Given the description of an element on the screen output the (x, y) to click on. 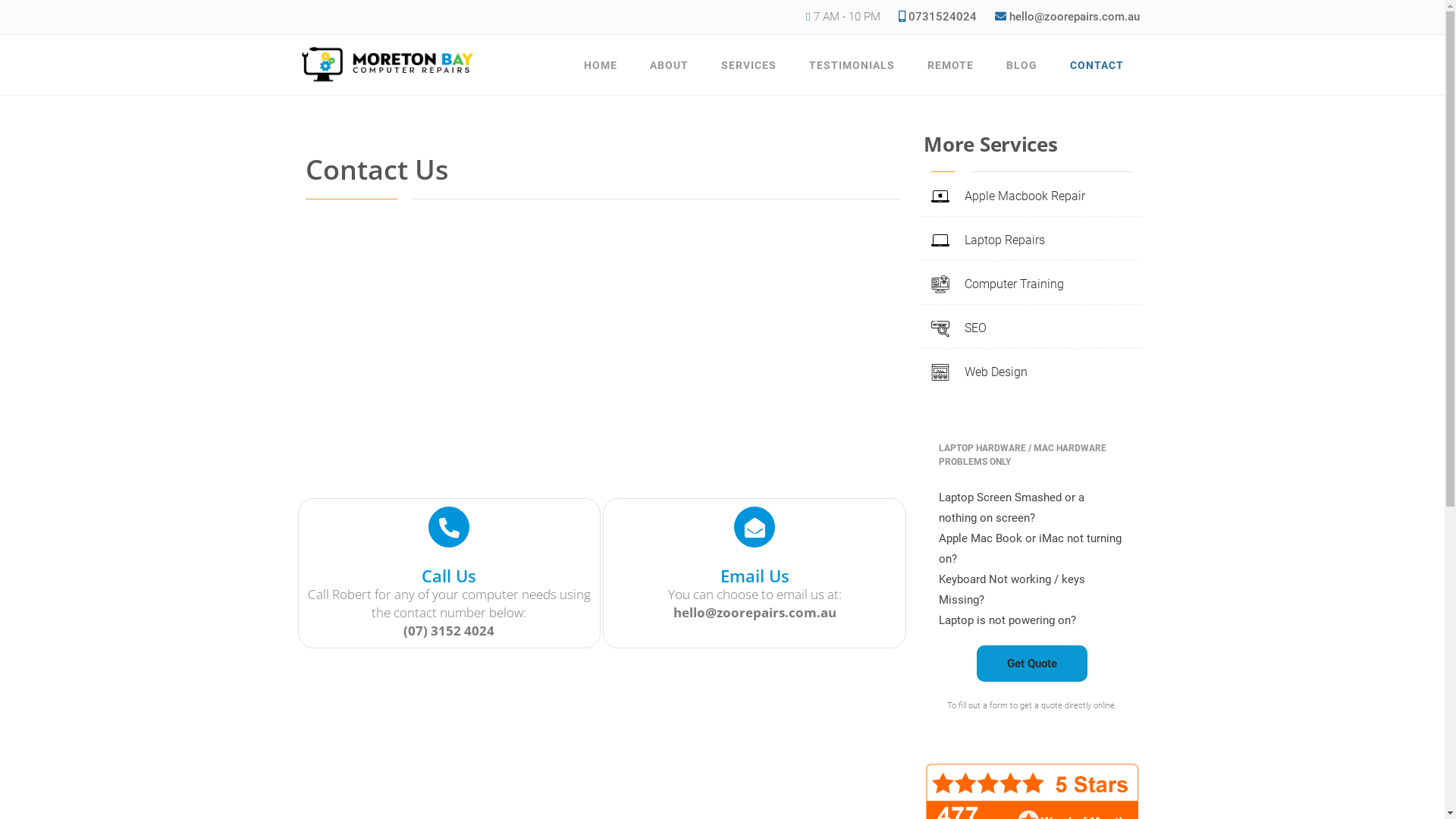
SERVICES Element type: text (748, 64)
SEO Element type: text (958, 327)
Moreton Bay Computer Repairs Element type: text (395, 131)
Web Design Element type: text (979, 371)
REMOTE Element type: text (950, 64)
Get Quote Element type: text (1031, 663)
0731524024 Element type: text (936, 16)
TESTIMONIALS Element type: text (851, 64)
ABOUT Element type: text (669, 64)
Laptop Repairs Element type: text (987, 239)
Computer Training Element type: text (997, 283)
BLOG Element type: text (1021, 64)
hello@zoorepairs.com.au Element type: text (1073, 16)
HOME Element type: text (600, 64)
CONTACT Element type: text (1096, 64)
Apple Macbook Repair Element type: text (1008, 195)
